Given the description of an element on the screen output the (x, y) to click on. 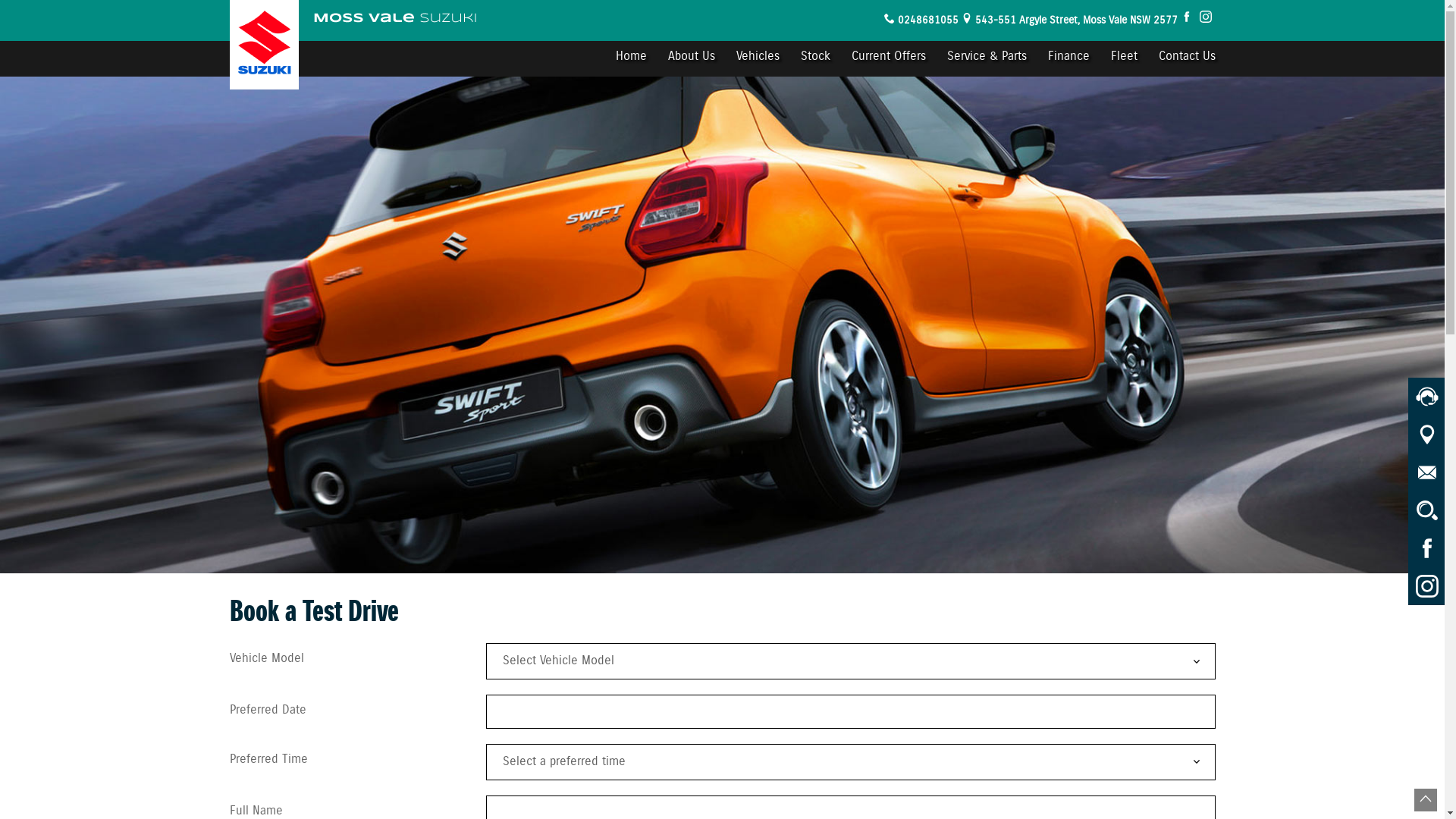
0248681055 Element type: text (927, 20)
Contact Us Element type: text (1181, 56)
Finance Element type: text (1068, 56)
Service & Parts Element type: text (985, 56)
Vehicles Element type: text (756, 56)
Current Offers Element type: text (887, 56)
Stock Element type: text (815, 56)
Fleet Element type: text (1123, 56)
About Us Element type: text (690, 56)
543-551 Argyle Street, Moss Vale NSW 2577 Element type: text (1076, 20)
Home Element type: text (631, 56)
